Given the description of an element on the screen output the (x, y) to click on. 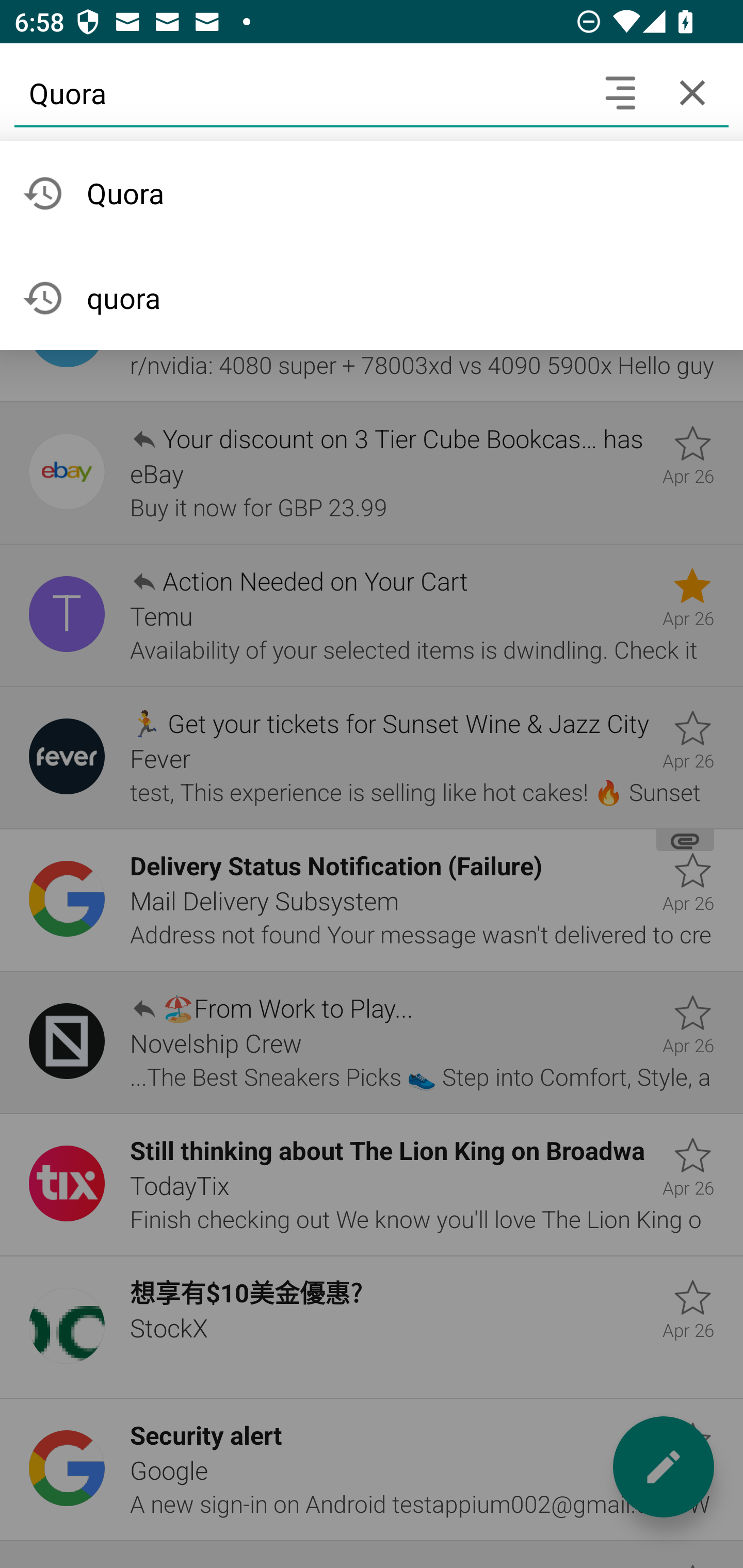
Quora (298, 92)
Search headers and text (619, 92)
Cancel (692, 92)
